Given the description of an element on the screen output the (x, y) to click on. 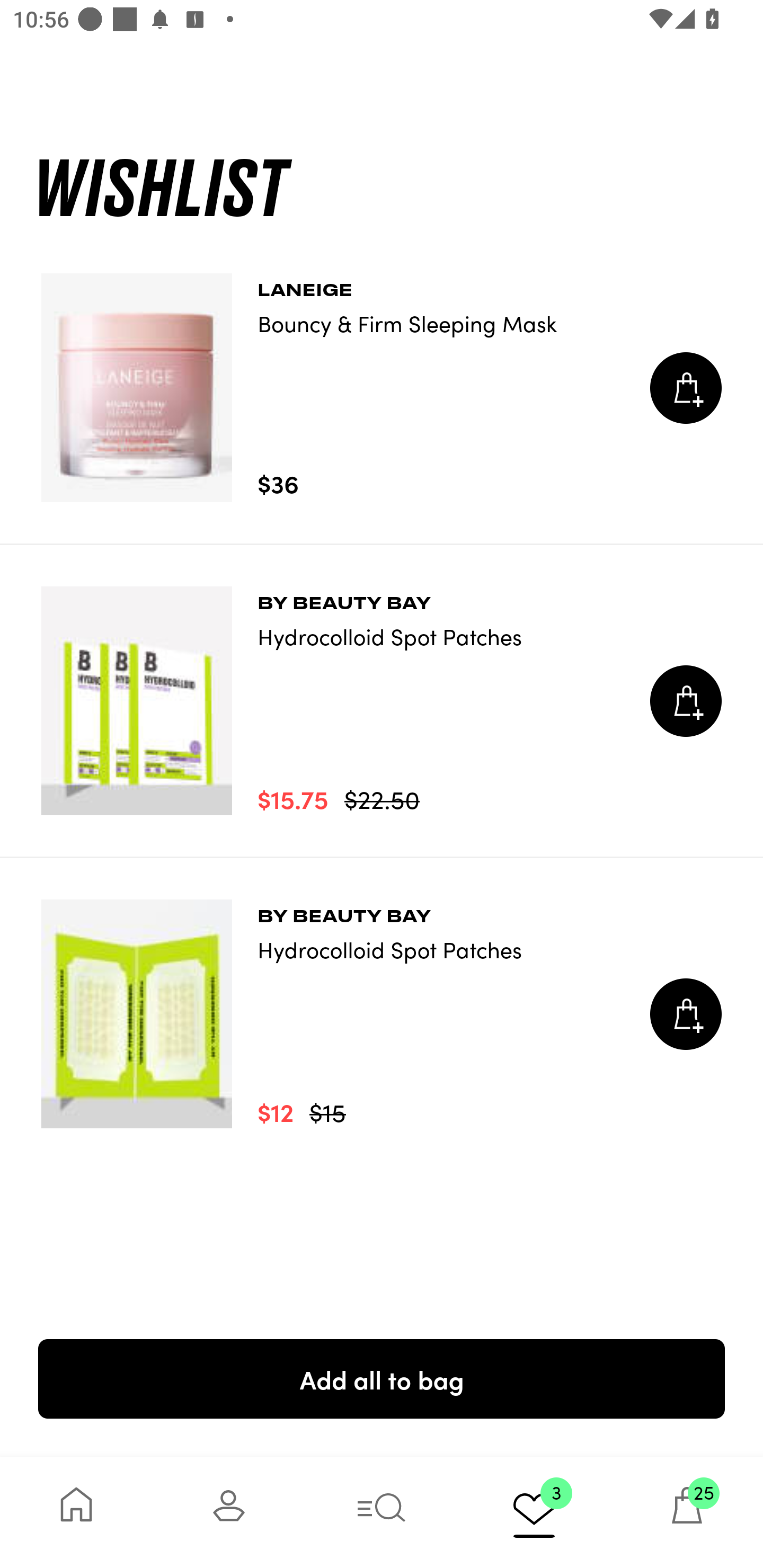
LANEIGE Bouncy & Firm Sleeping Mask $36 (381, 388)
BY BEAUTY BAY Hydrocolloid Spot Patches $12 $15 (381, 1013)
Add all to bag (381, 1379)
3 (533, 1512)
25 (686, 1512)
